Given the description of an element on the screen output the (x, y) to click on. 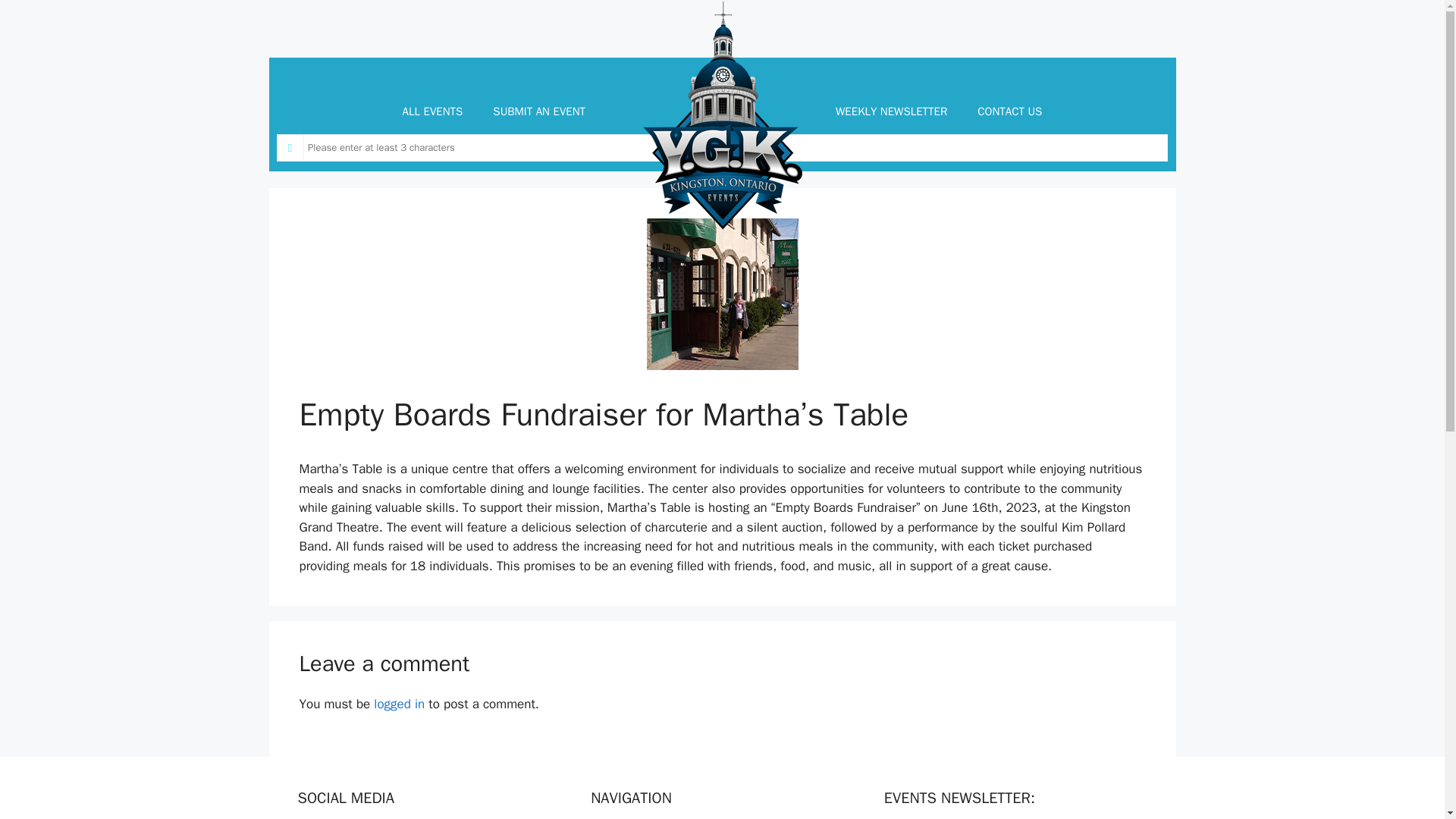
logged in (399, 703)
SUBMIT AN EVENT (538, 111)
CONTACT US (1009, 111)
WEEKLY NEWSLETTER (891, 111)
ALL EVENTS (433, 111)
